Given the description of an element on the screen output the (x, y) to click on. 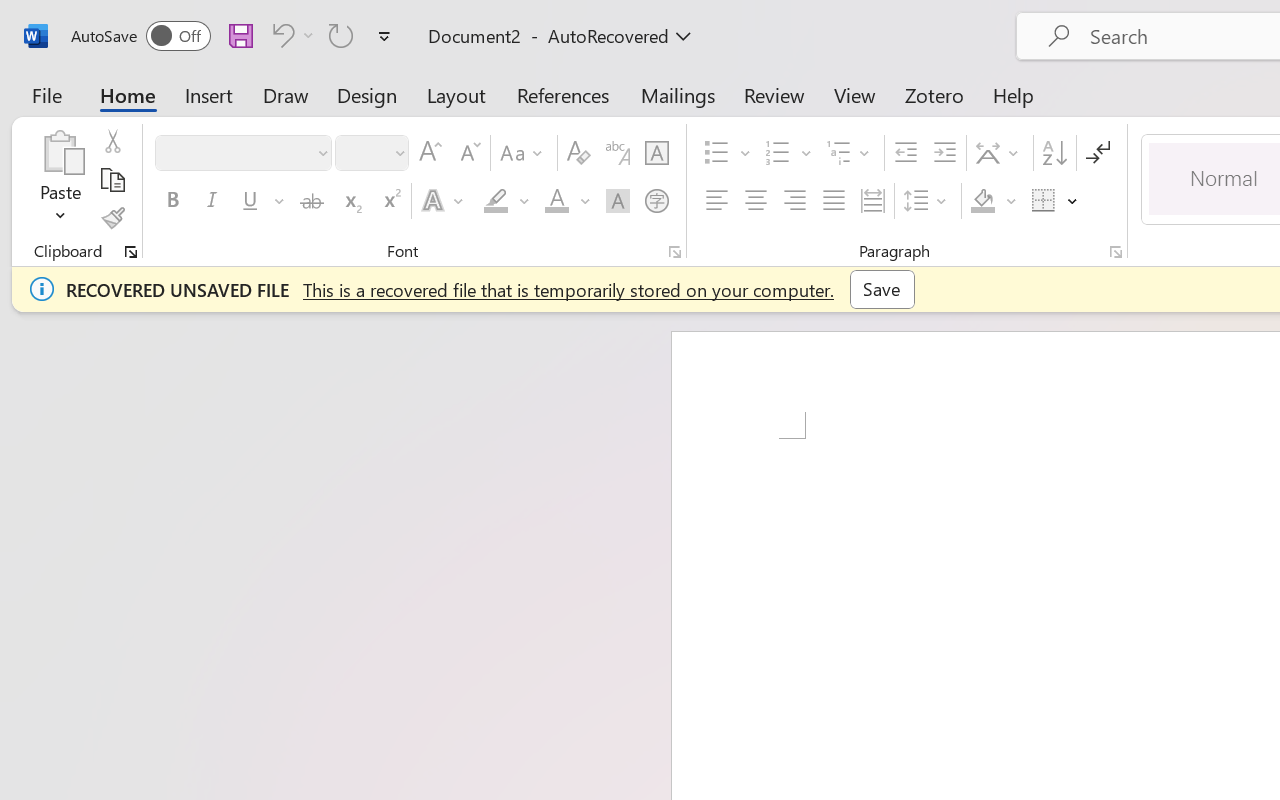
Cut (112, 141)
